Given the description of an element on the screen output the (x, y) to click on. 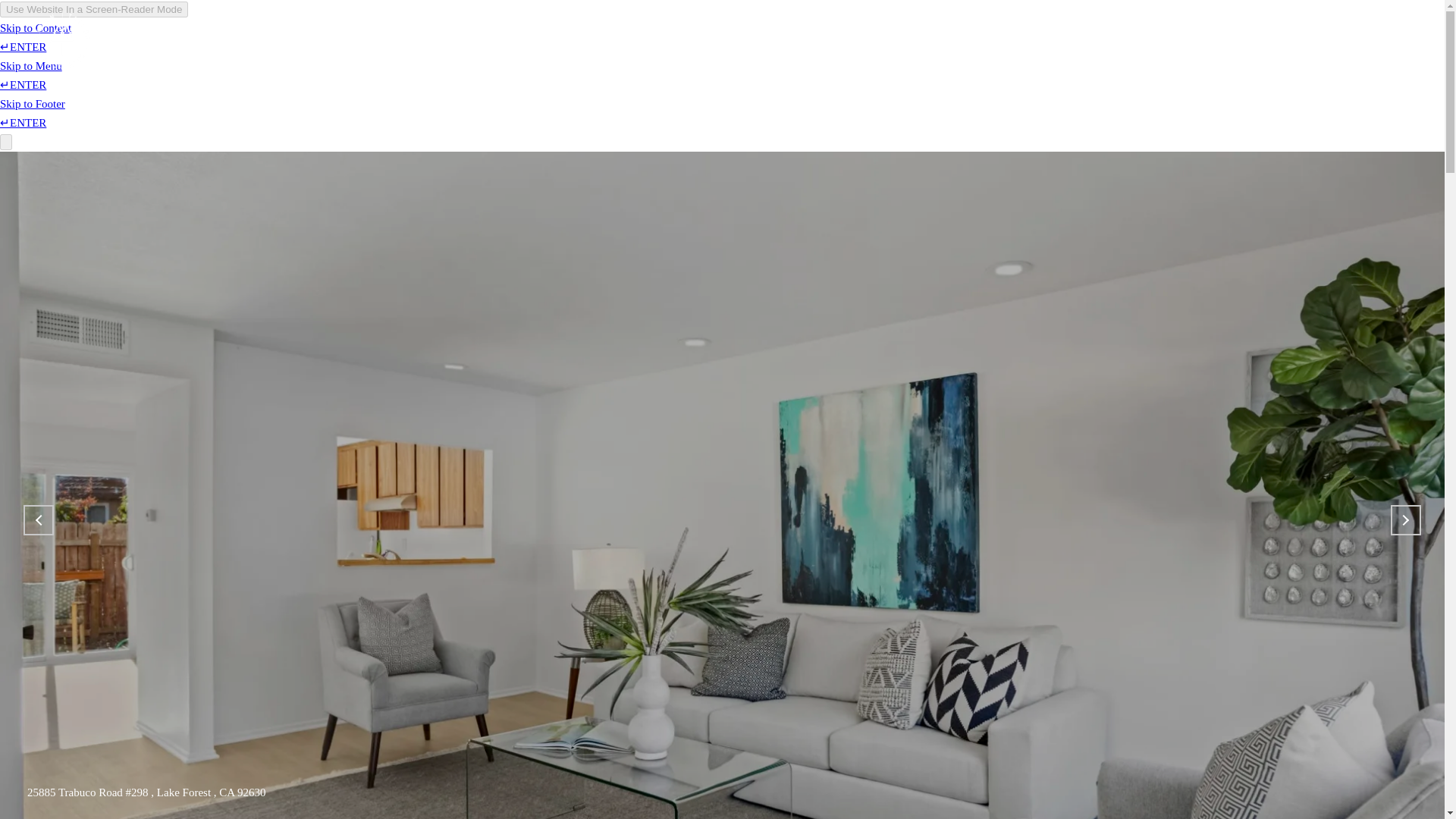
CONTACT US (750, 42)
TESTIMONIALS (642, 42)
WHY COMPASS (250, 42)
FEATURED PROPERTIES (389, 42)
SELECT SOLDS (528, 42)
WHY US (159, 42)
